Given the description of an element on the screen output the (x, y) to click on. 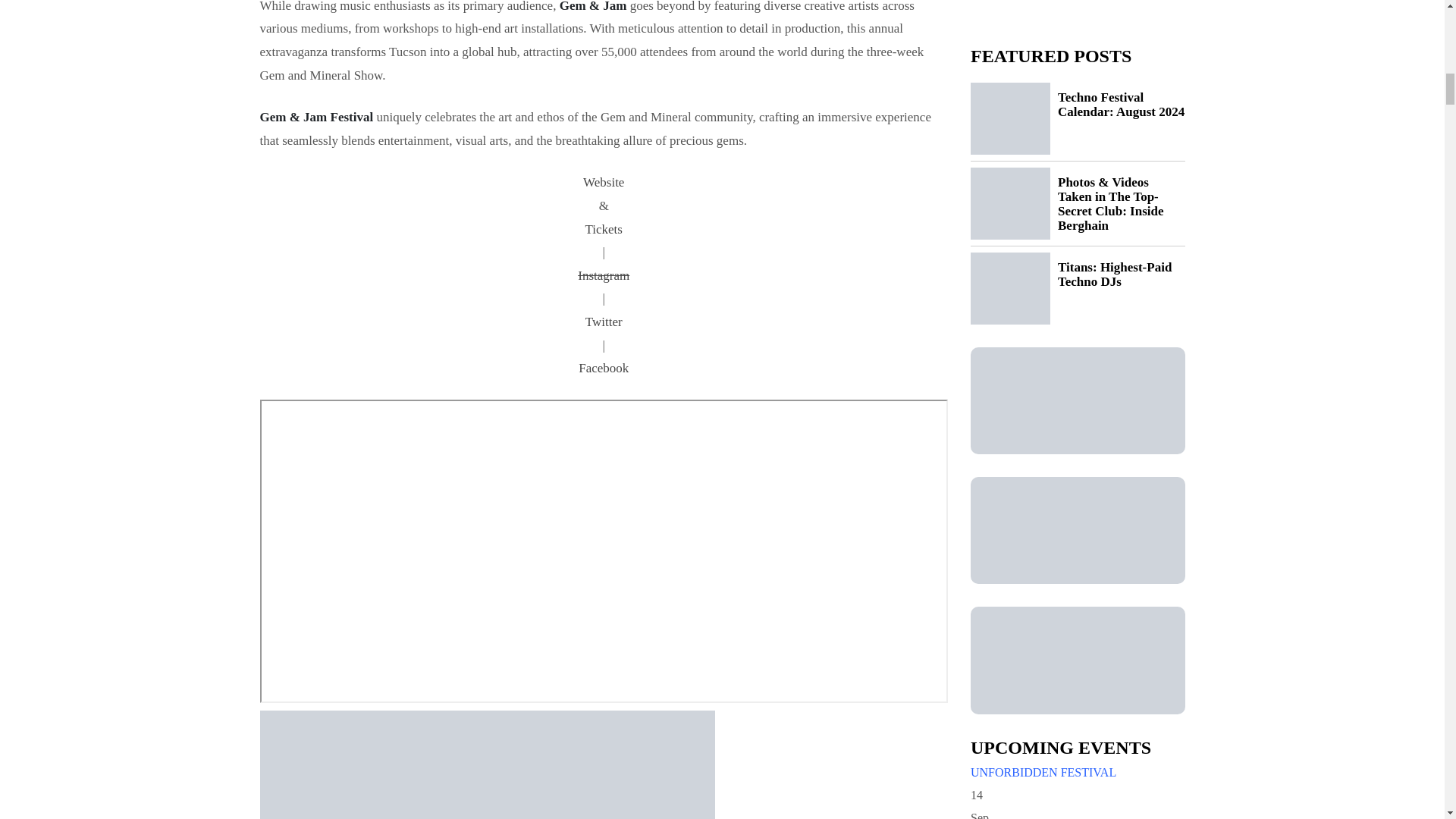
Tickets (603, 229)
Facebook (603, 368)
Instagram (603, 276)
Twitter (603, 322)
Website (603, 182)
Techno Festival Calendar: February 2024 2 (486, 764)
